Given the description of an element on the screen output the (x, y) to click on. 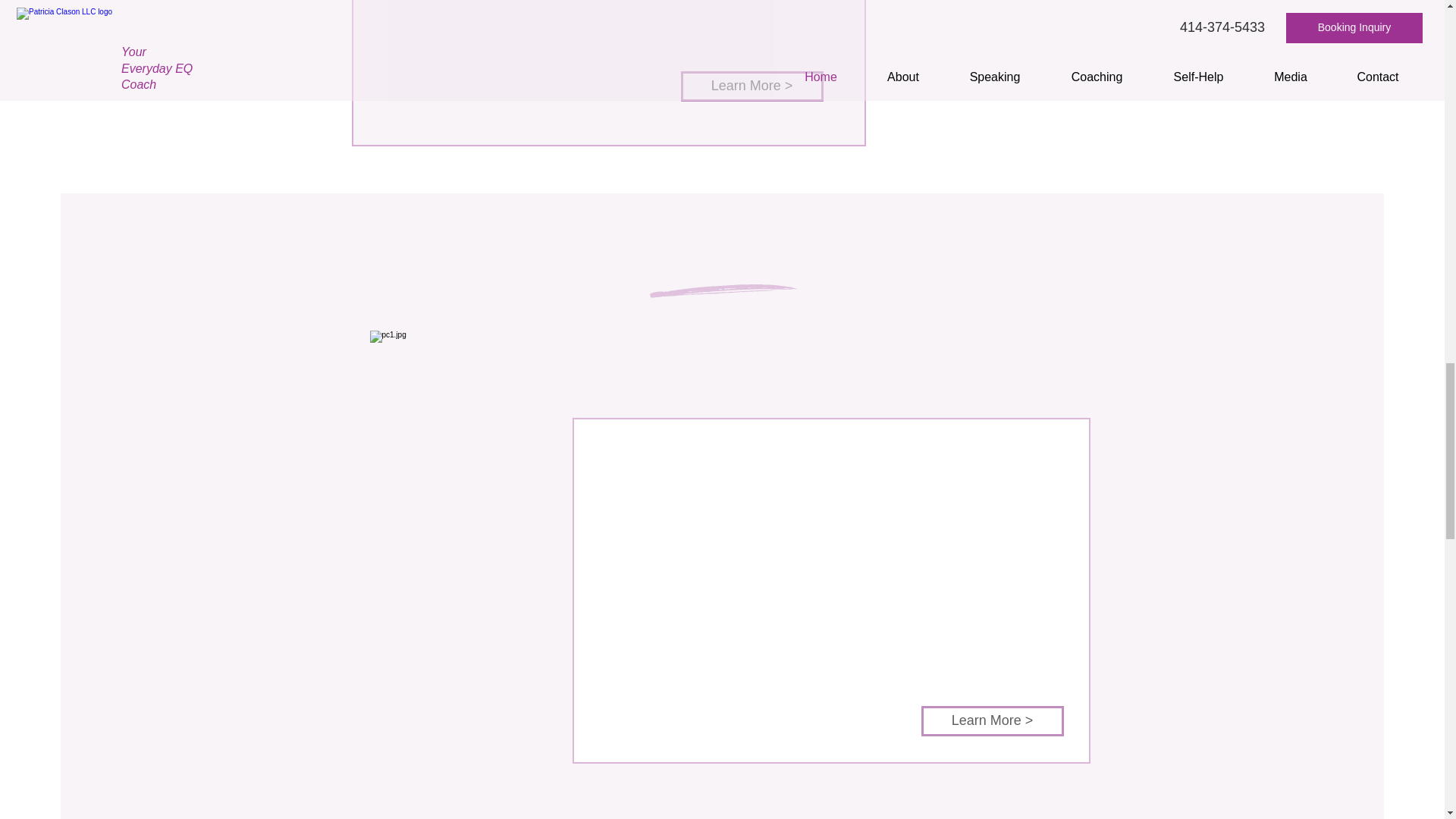
Patricia Clason Speaking (904, 15)
Patricia Clason Speaking (485, 558)
